Given the description of an element on the screen output the (x, y) to click on. 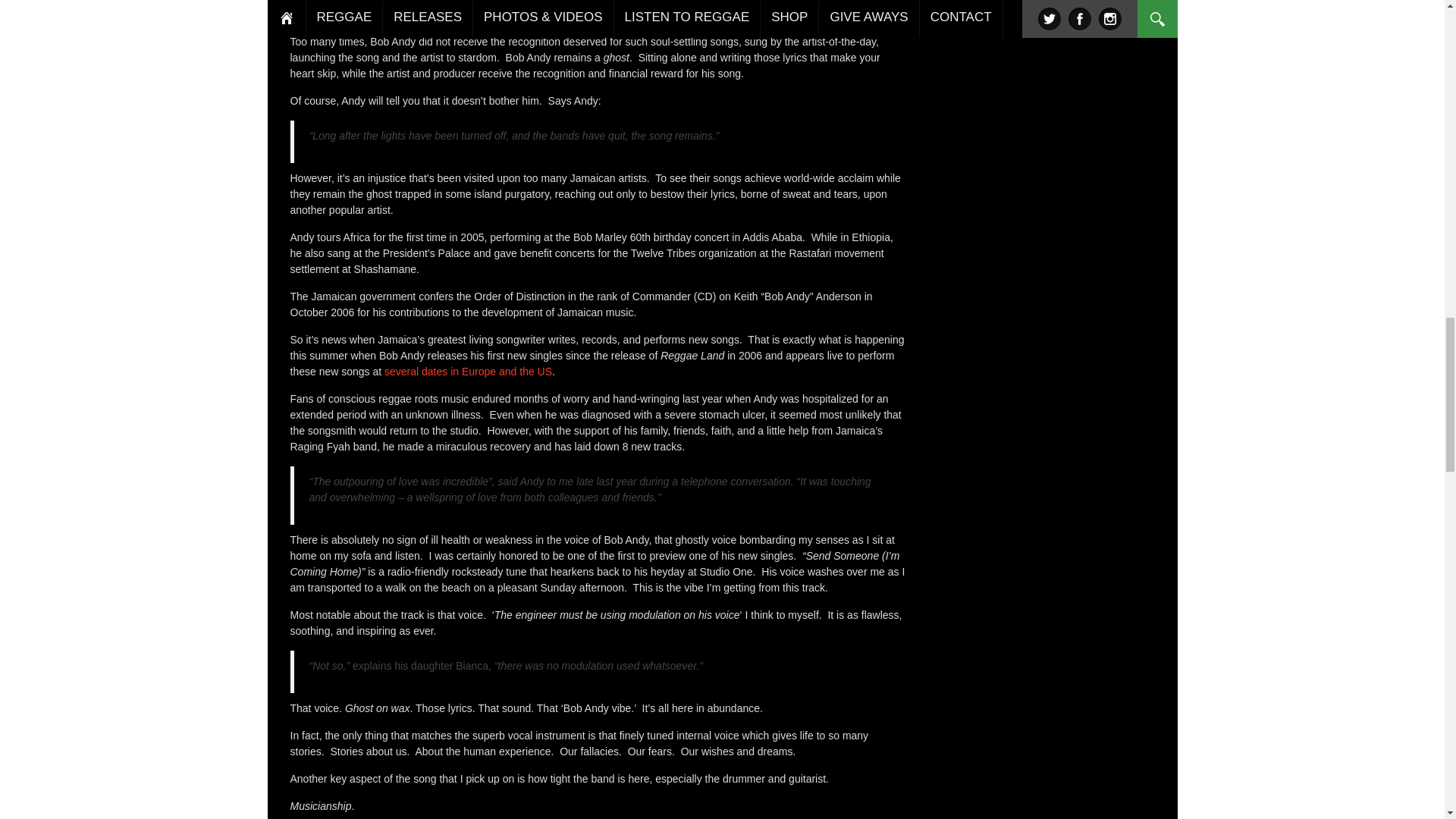
several dates in Europe and the US (467, 371)
